Given the description of an element on the screen output the (x, y) to click on. 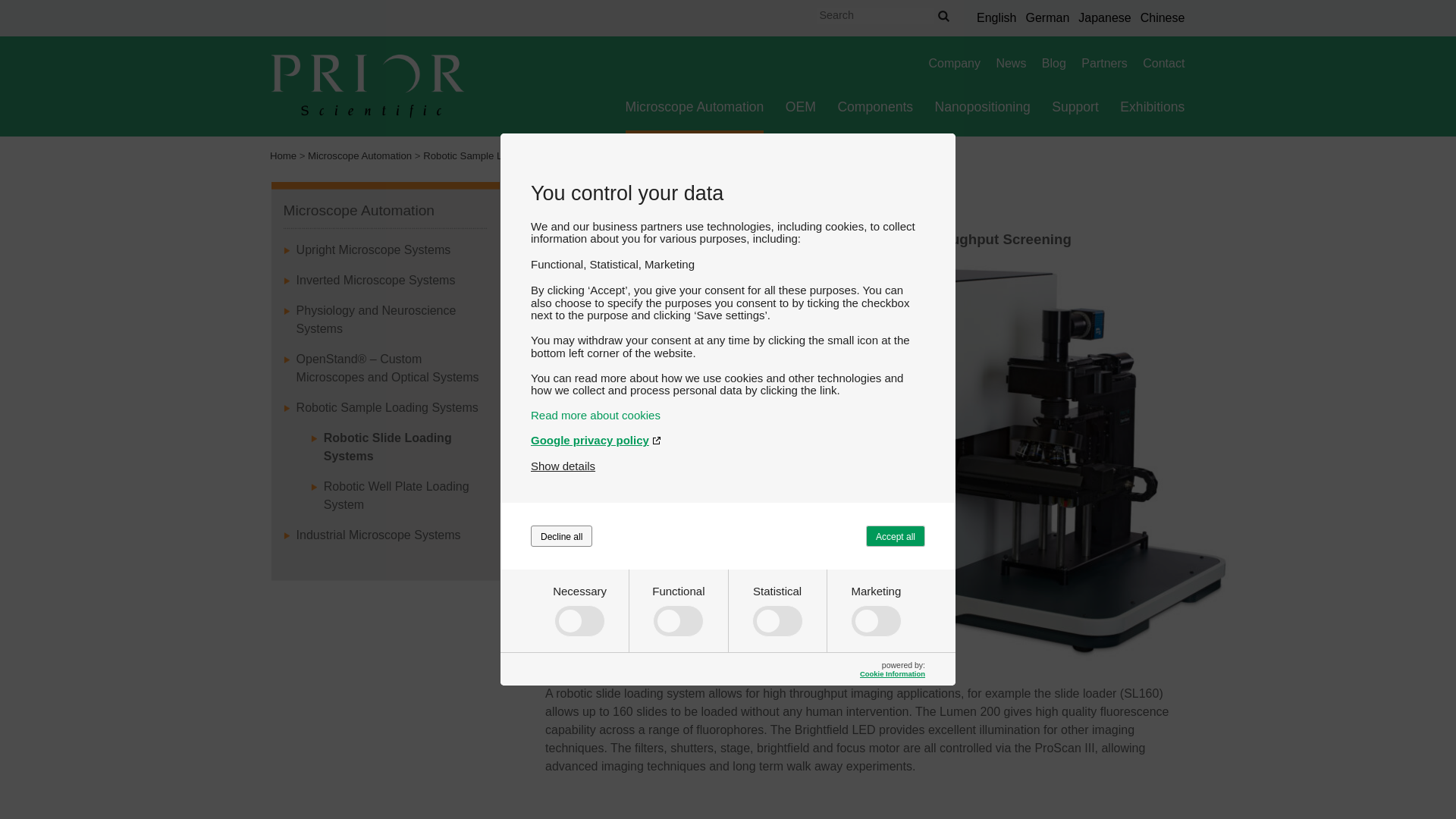
Read more about cookies (727, 414)
Google privacy policy (727, 440)
Show details (563, 465)
